Given the description of an element on the screen output the (x, y) to click on. 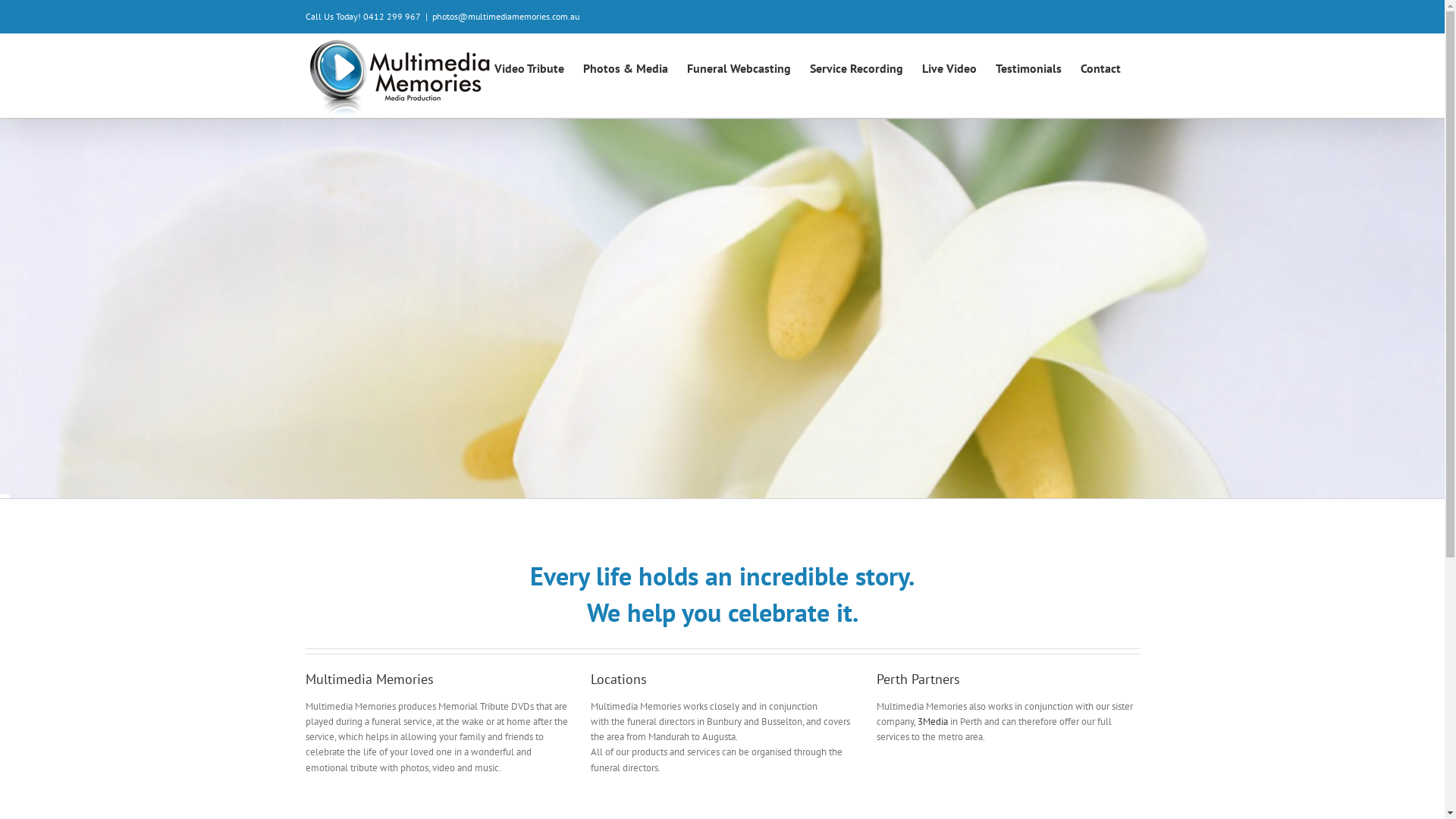
3Media Element type: text (933, 721)
Contact Element type: text (1099, 66)
Live Video Element type: text (949, 66)
Testimonials Element type: text (1027, 66)
Funeral Webcasting Element type: text (738, 66)
Photos & Media Element type: text (624, 66)
Video Tribute Element type: text (529, 66)
photos@multimediamemories.com.au Element type: text (505, 15)
Service Recording Element type: text (856, 66)
